Given the description of an element on the screen output the (x, y) to click on. 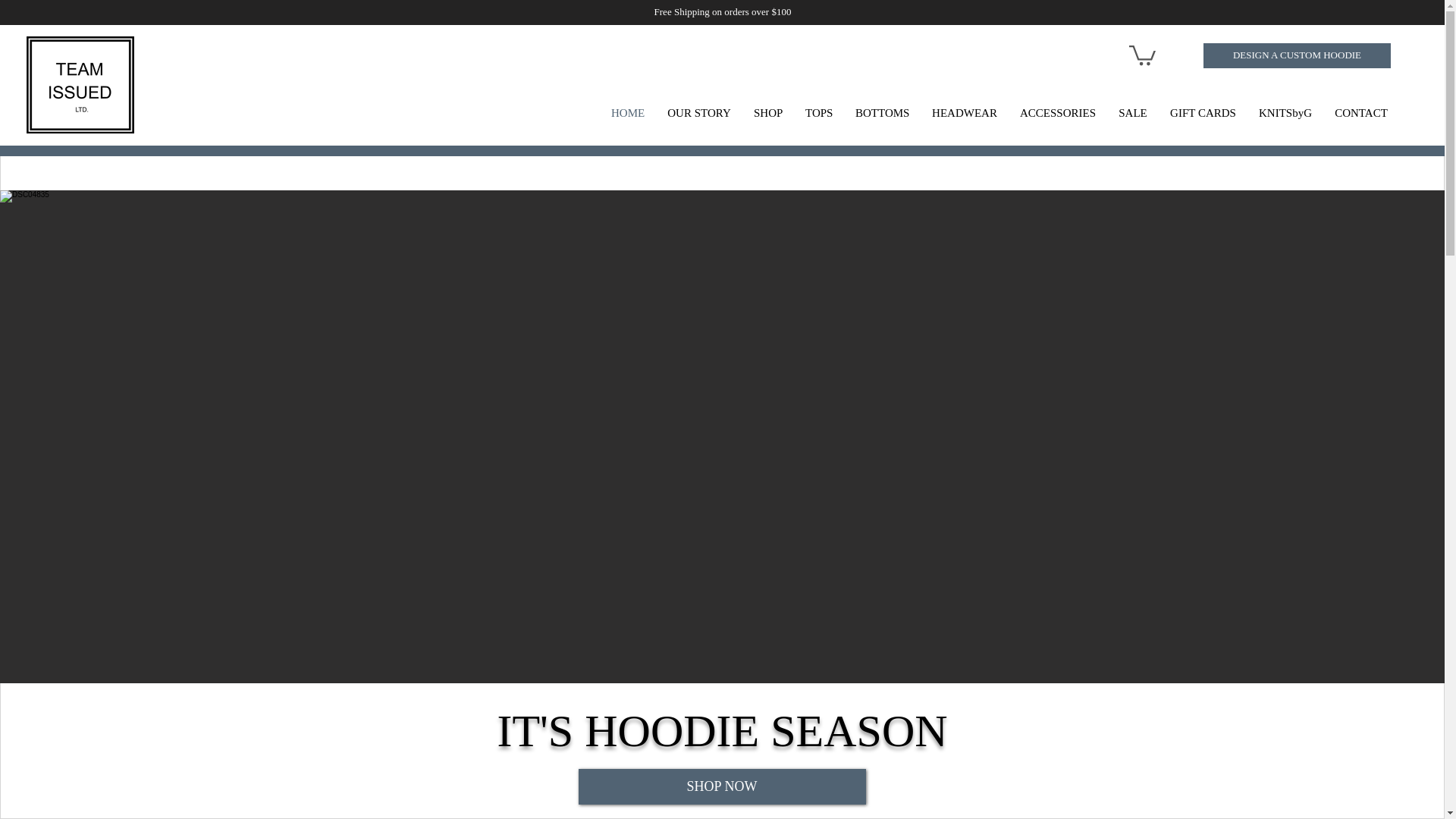
KNITSbyG (1285, 112)
DESIGN A CUSTOM HOODIE (1297, 55)
HEADWEAR (964, 112)
ACCESSORIES (1057, 112)
SALE (1132, 112)
HOME (627, 112)
SHOP (767, 112)
TOPS (818, 112)
CONTACT (1361, 112)
GIFT CARDS (1202, 112)
